Given the description of an element on the screen output the (x, y) to click on. 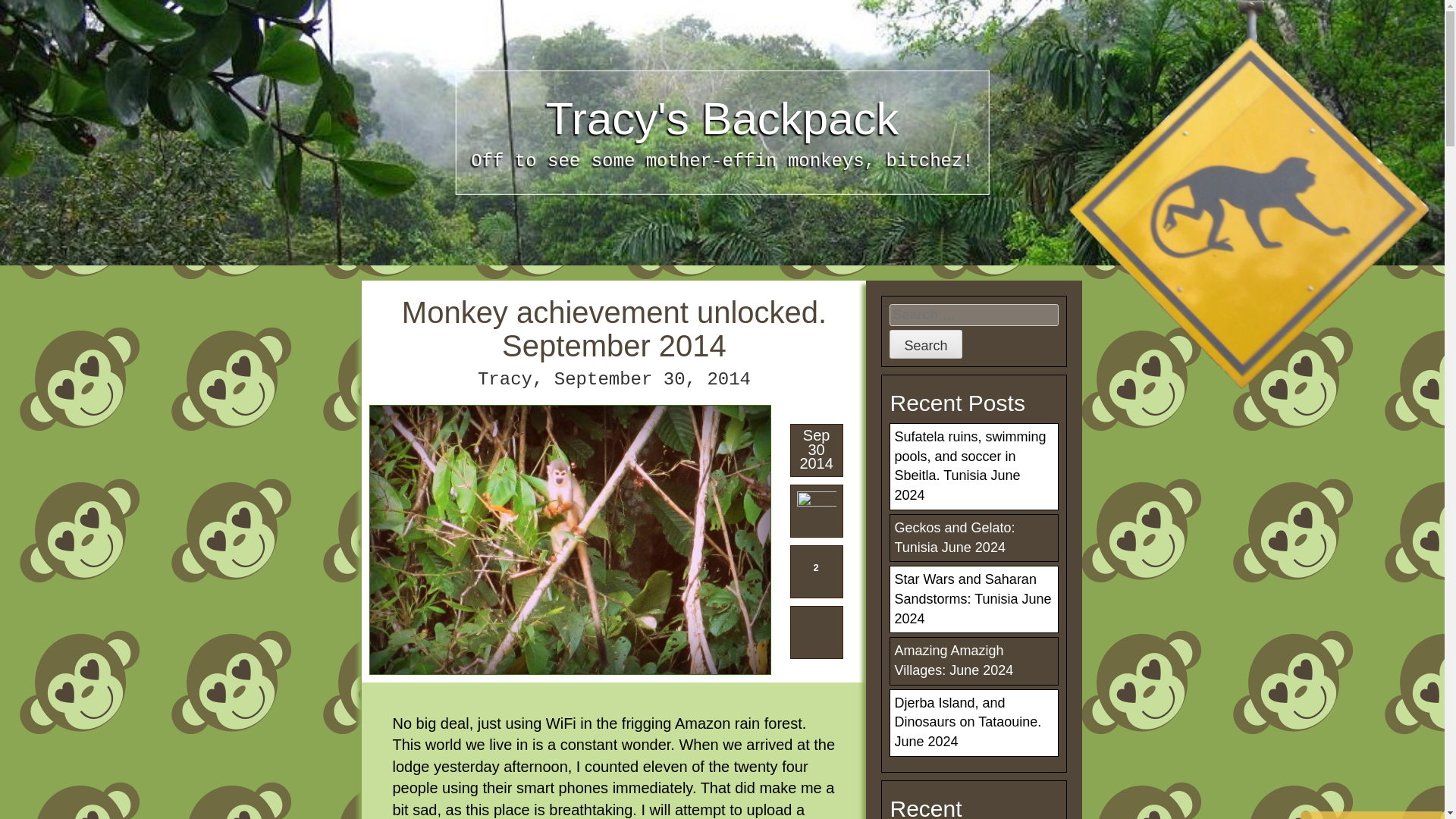
Amazing Amazigh Villages: June 2024 (953, 660)
Geckos and Gelato: Tunisia June 2024 (953, 537)
Search (924, 344)
Djerba Island, and Dinosaurs on Tataouine. June 2024 (967, 722)
Search (924, 344)
Search (924, 344)
Star Wars and Saharan Sandstorms: Tunisia June 2024 (972, 598)
